Given the description of an element on the screen output the (x, y) to click on. 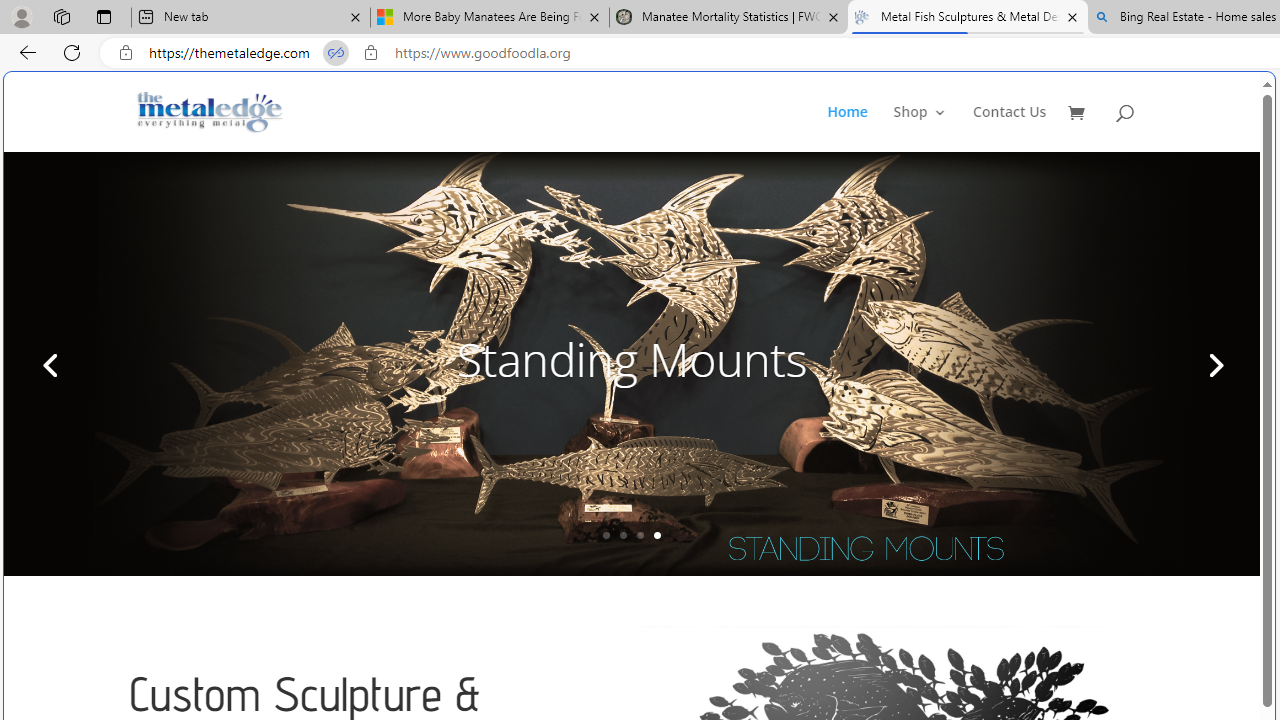
5 (1213, 363)
2 (623, 535)
Home (857, 128)
Manatee Mortality Statistics | FWC (729, 17)
Home (846, 128)
1 (606, 535)
Metal Fish Sculptures & Metal Designs (210, 111)
Metal Fish Sculptures & Metal Designs (210, 111)
